Given the description of an element on the screen output the (x, y) to click on. 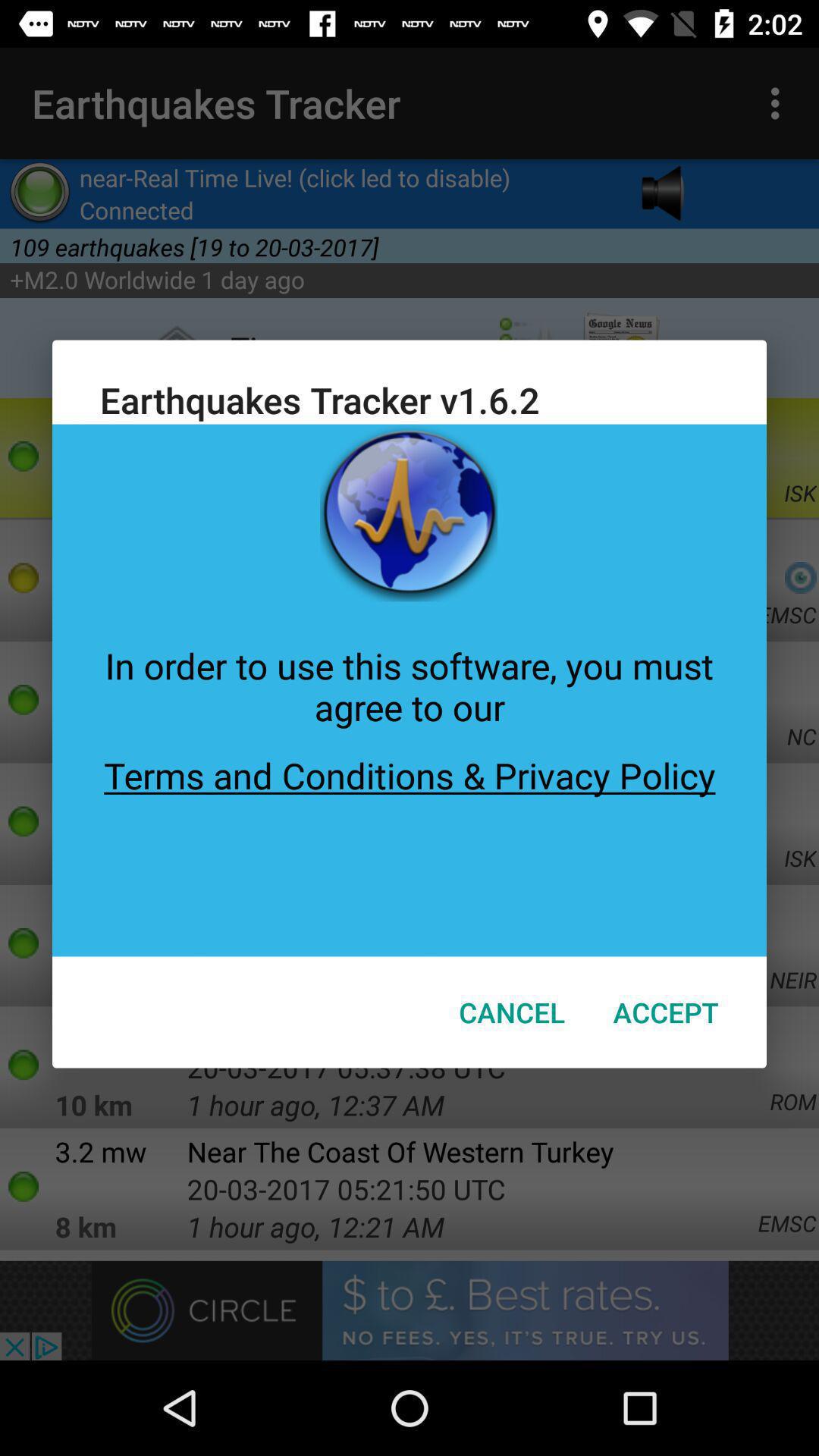
swipe until the terms and conditions item (409, 843)
